Given the description of an element on the screen output the (x, y) to click on. 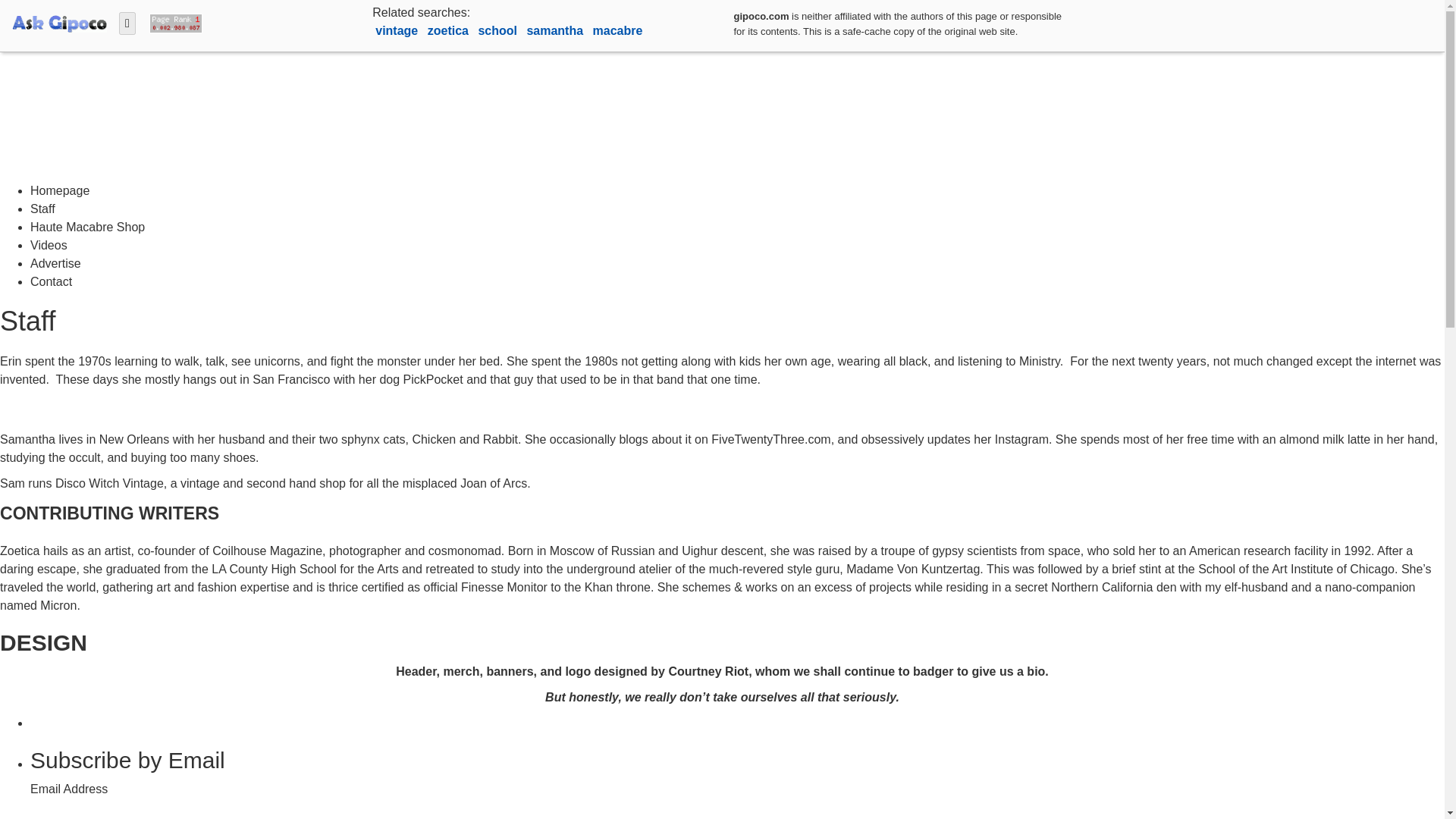
zoetica (449, 30)
samantha (555, 30)
school (498, 30)
vintage (397, 30)
school (498, 30)
zoetica (449, 30)
macabre (617, 30)
free experimental uncensored search engine - home page (58, 21)
macabre (617, 30)
view page-rank and visitors counter and free website stats (172, 21)
samantha (555, 30)
vintage (397, 30)
